Given the description of an element on the screen output the (x, y) to click on. 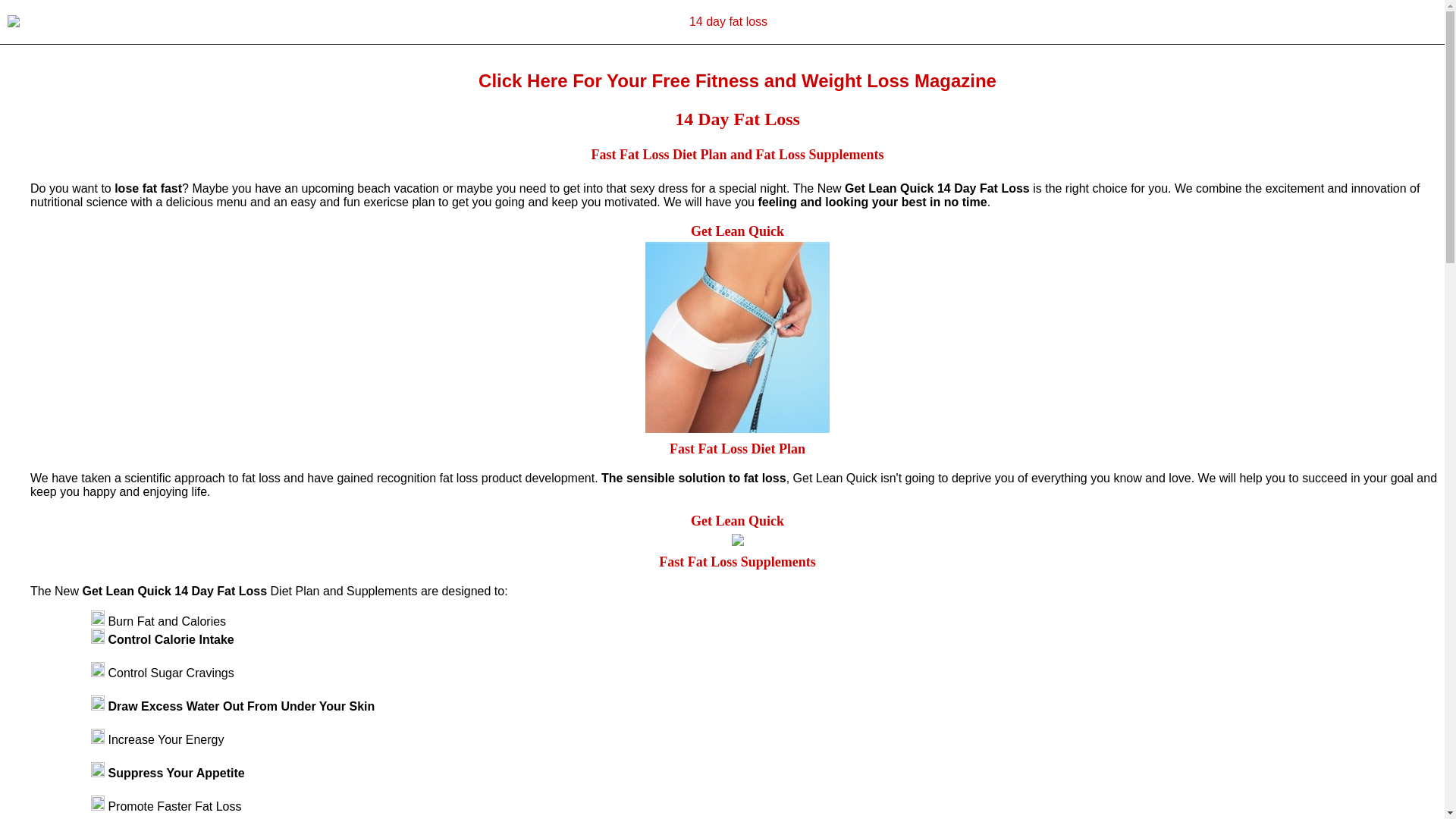
Click Here For Your Free Fitness and Weight Loss Magazine Element type: text (737, 80)
